Given the description of an element on the screen output the (x, y) to click on. 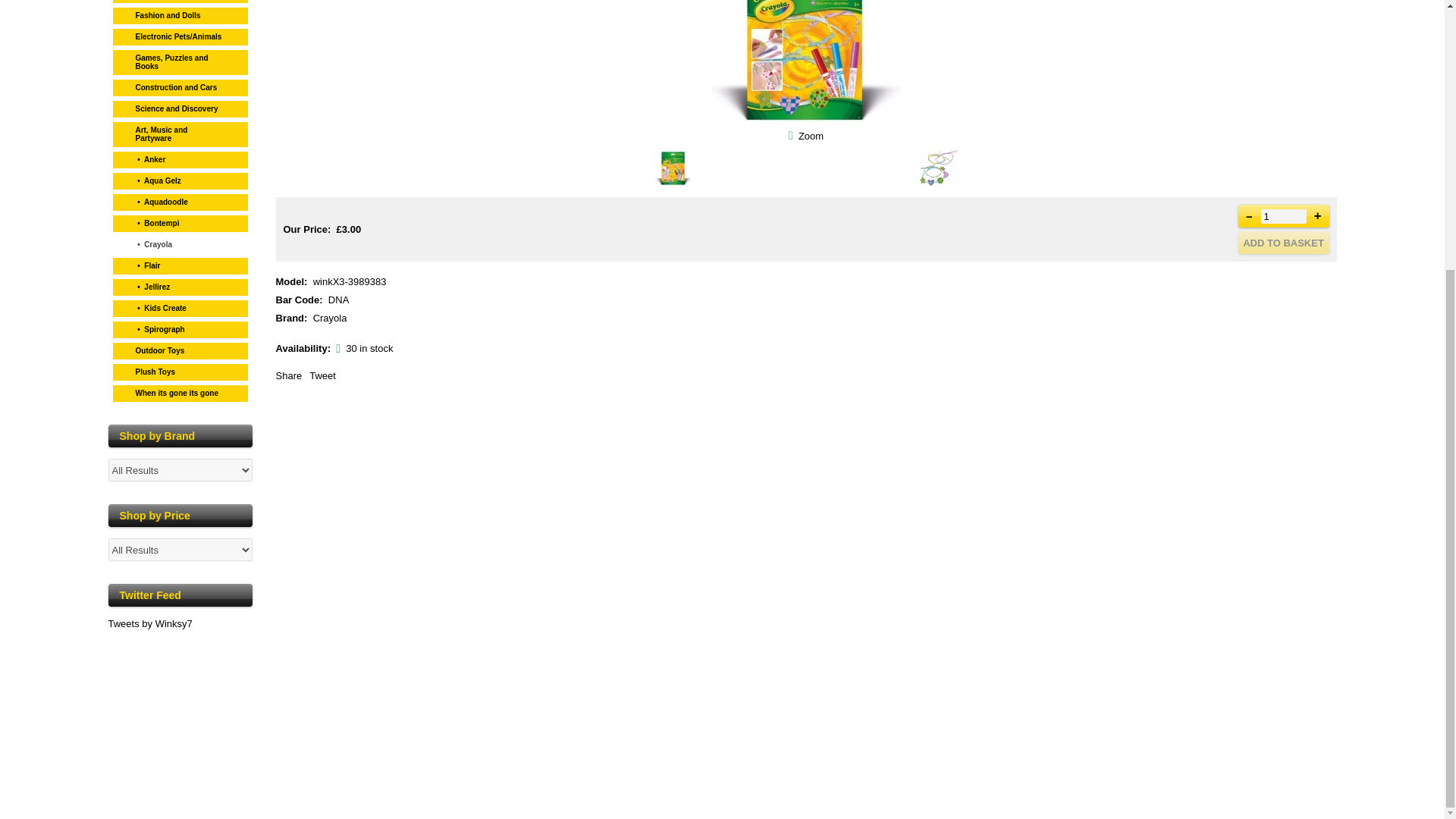
Zoom (810, 134)
When its gone its gone (179, 391)
Crayola Friendship Bracelets Travel Pack (810, 134)
1 (1283, 215)
Construction and Cars (179, 85)
Tweets by Winksy7 (149, 623)
ADD TO BASKET (1282, 241)
Tweet (322, 375)
Zoom (806, 62)
Games, Puzzles and Books (179, 60)
